Given the description of an element on the screen output the (x, y) to click on. 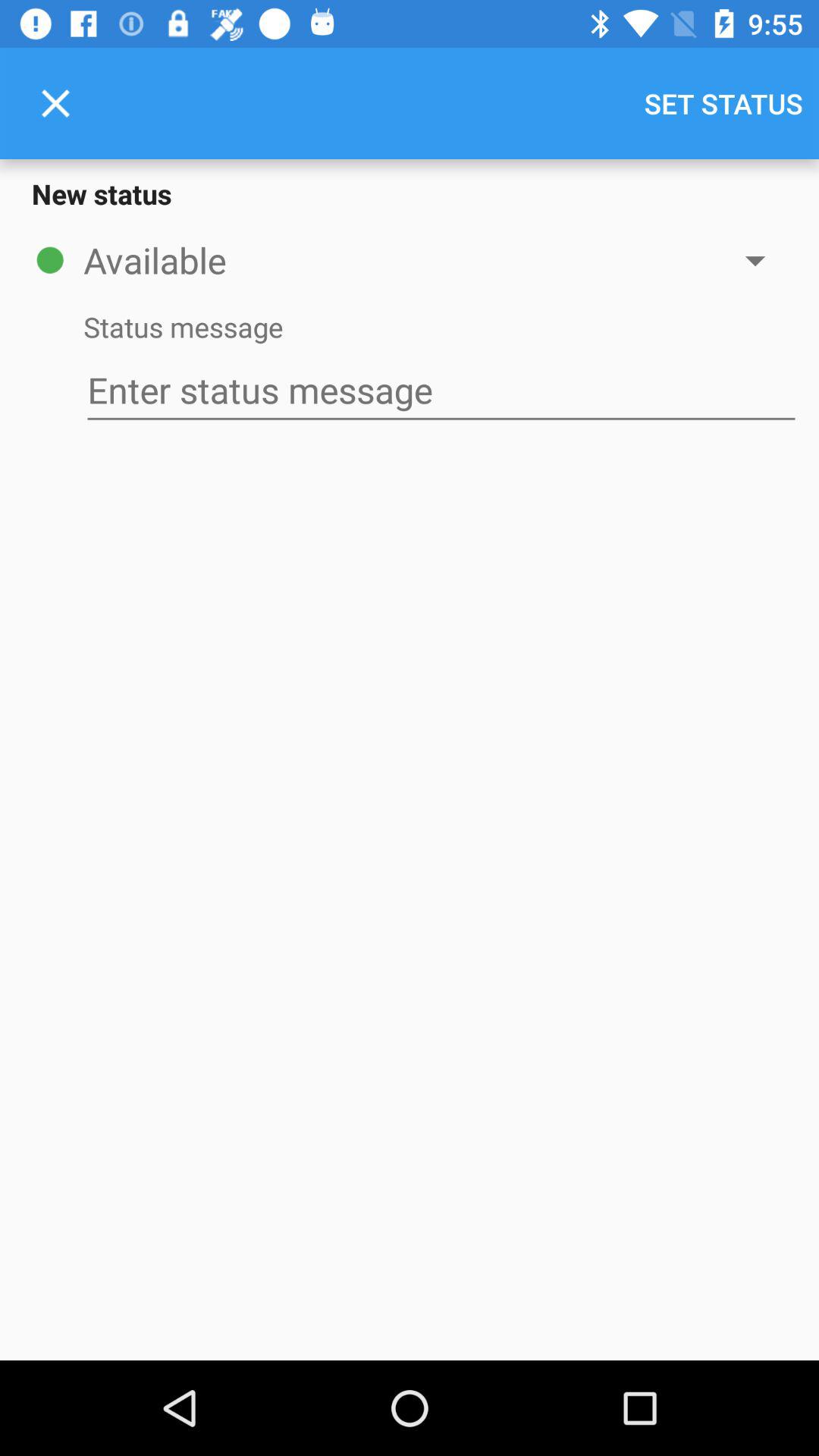
click the item above the new status icon (723, 103)
